Given the description of an element on the screen output the (x, y) to click on. 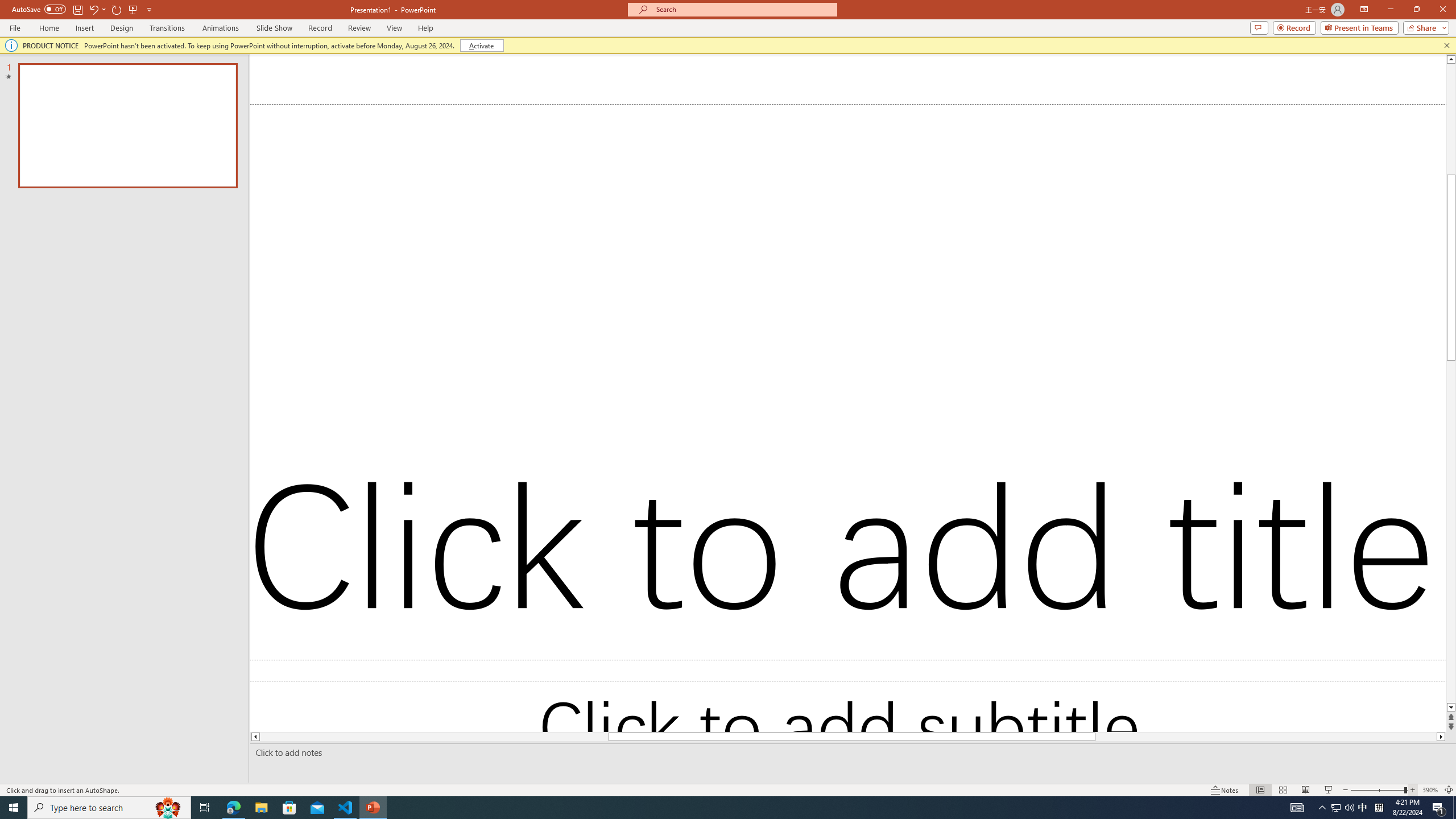
Redo (117, 9)
Close this message (1446, 45)
View (395, 28)
Minimize (1390, 9)
Customize Quick Access Toolbar (149, 9)
Zoom to Fit  (1449, 790)
Save (77, 9)
Restore Down (1416, 9)
Zoom 390% (1430, 790)
Reading View (1305, 790)
From Beginning (133, 9)
Class: MsoCommandBar (728, 789)
